Given the description of an element on the screen output the (x, y) to click on. 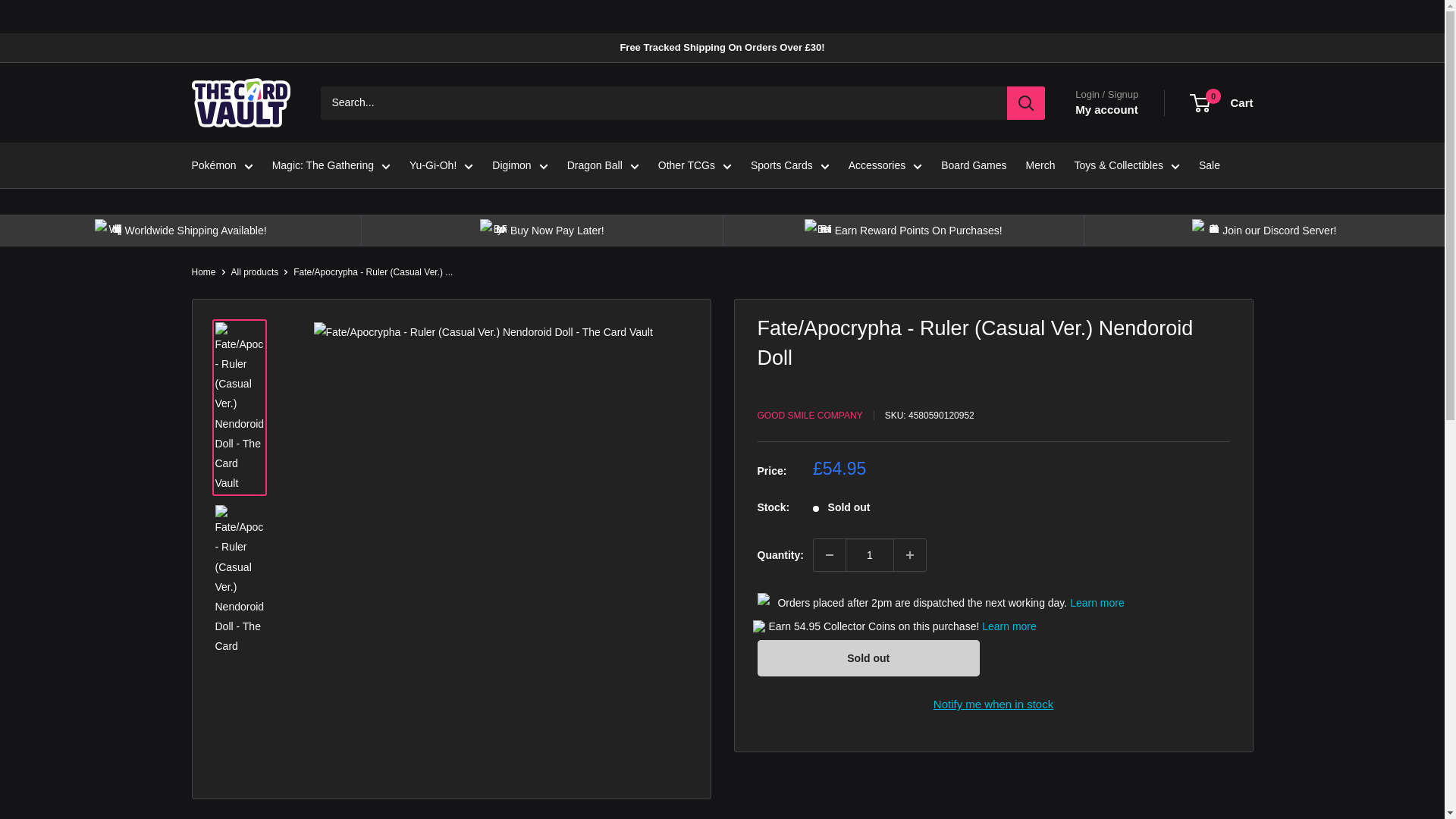
Increase quantity by 1 (909, 554)
Decrease quantity by 1 (829, 554)
1 (869, 554)
